Given the description of an element on the screen output the (x, y) to click on. 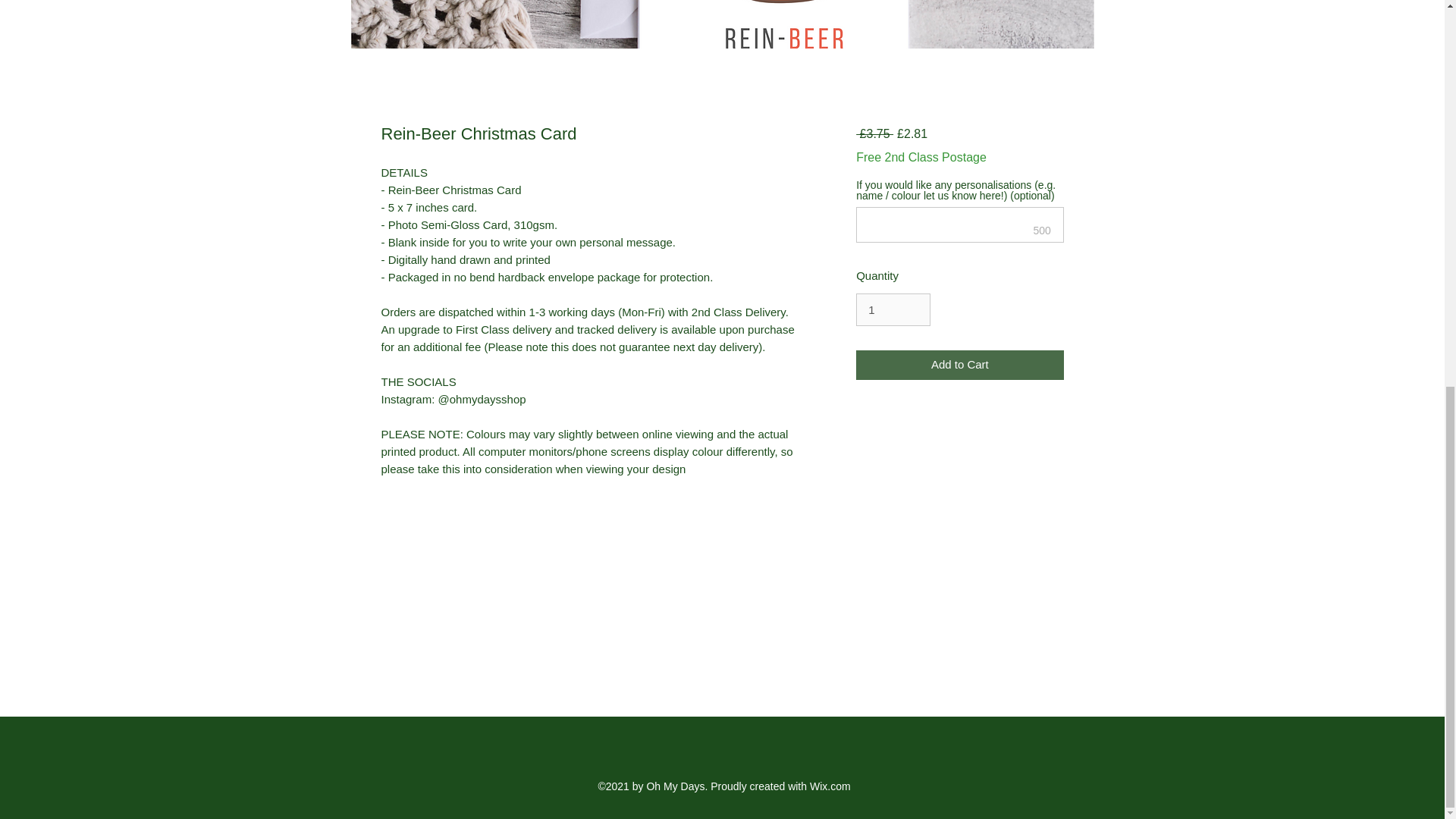
1 (893, 308)
Free 2nd Class Postage (921, 157)
Add to Cart (959, 365)
